Given the description of an element on the screen output the (x, y) to click on. 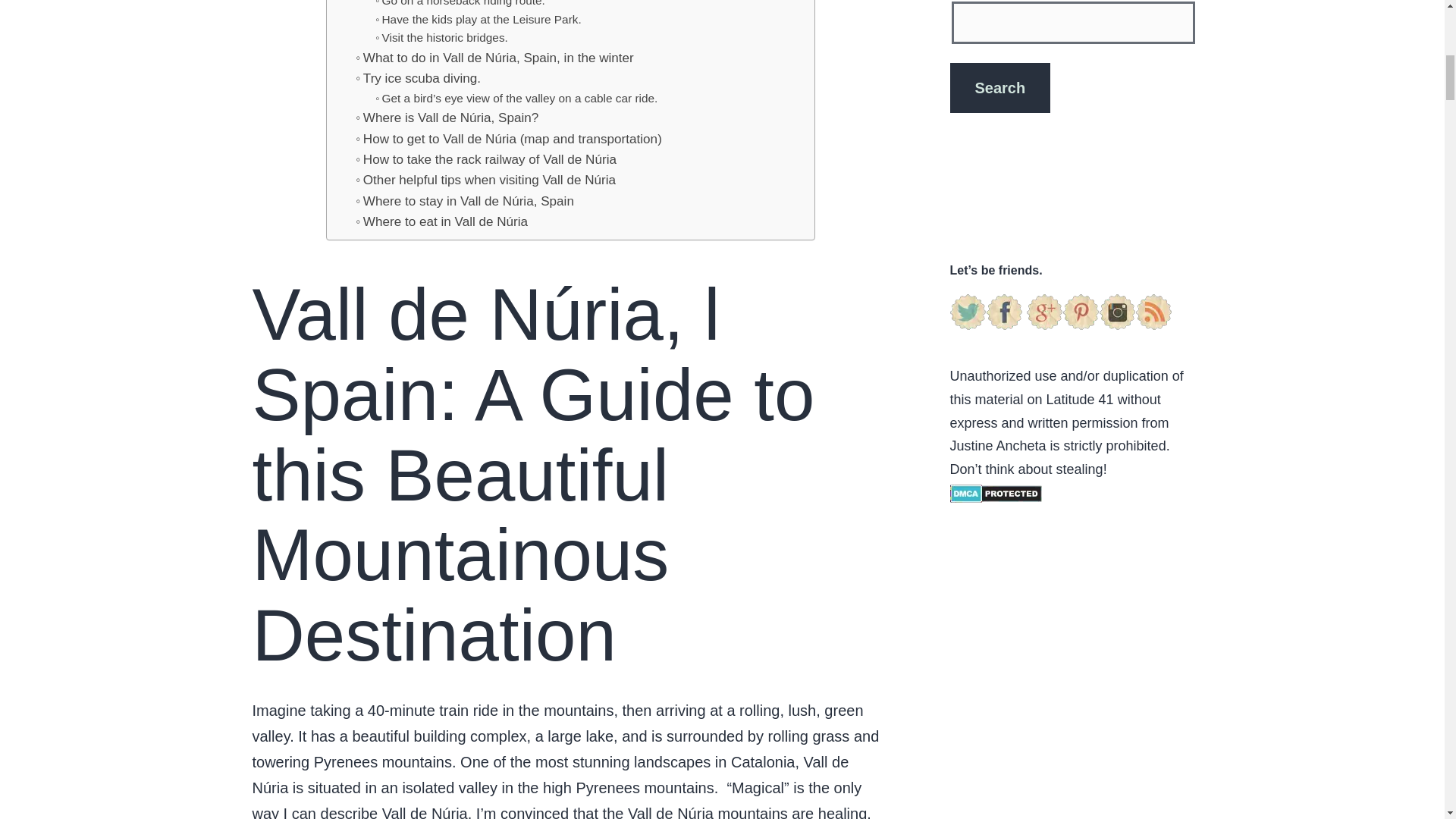
Have the kids play at the Leisure Park. (477, 19)
Visit the historic bridges. (441, 37)
Search (999, 88)
Go on a horseback riding route. (459, 5)
Search (999, 88)
Try ice scuba diving. (417, 77)
